Given the description of an element on the screen output the (x, y) to click on. 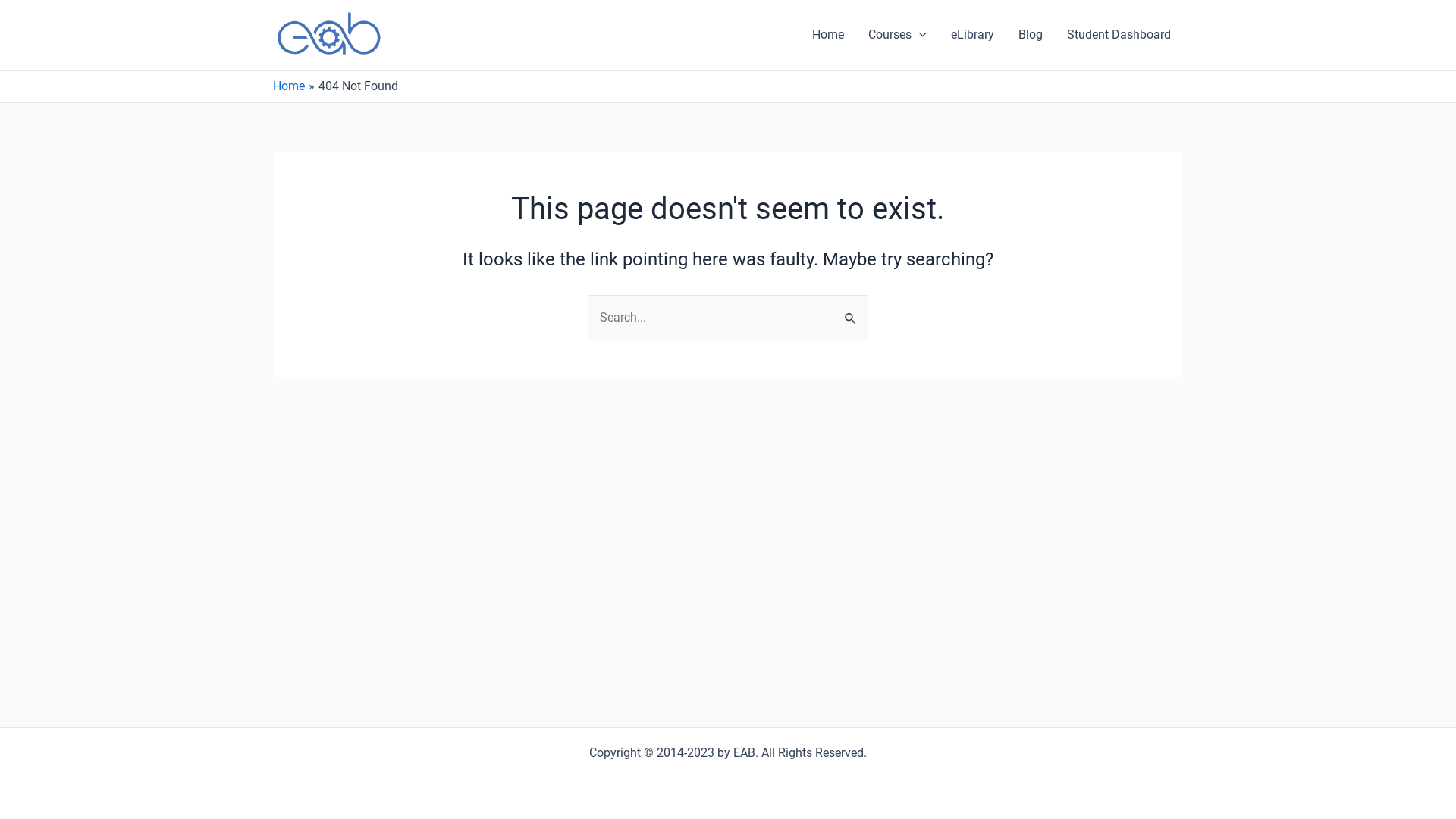
Home Element type: text (828, 34)
Student Dashboard Element type: text (1118, 34)
eLibrary Element type: text (972, 34)
Blog Element type: text (1030, 34)
Home Element type: text (288, 85)
Courses Element type: text (897, 34)
Search Element type: text (851, 310)
